Given the description of an element on the screen output the (x, y) to click on. 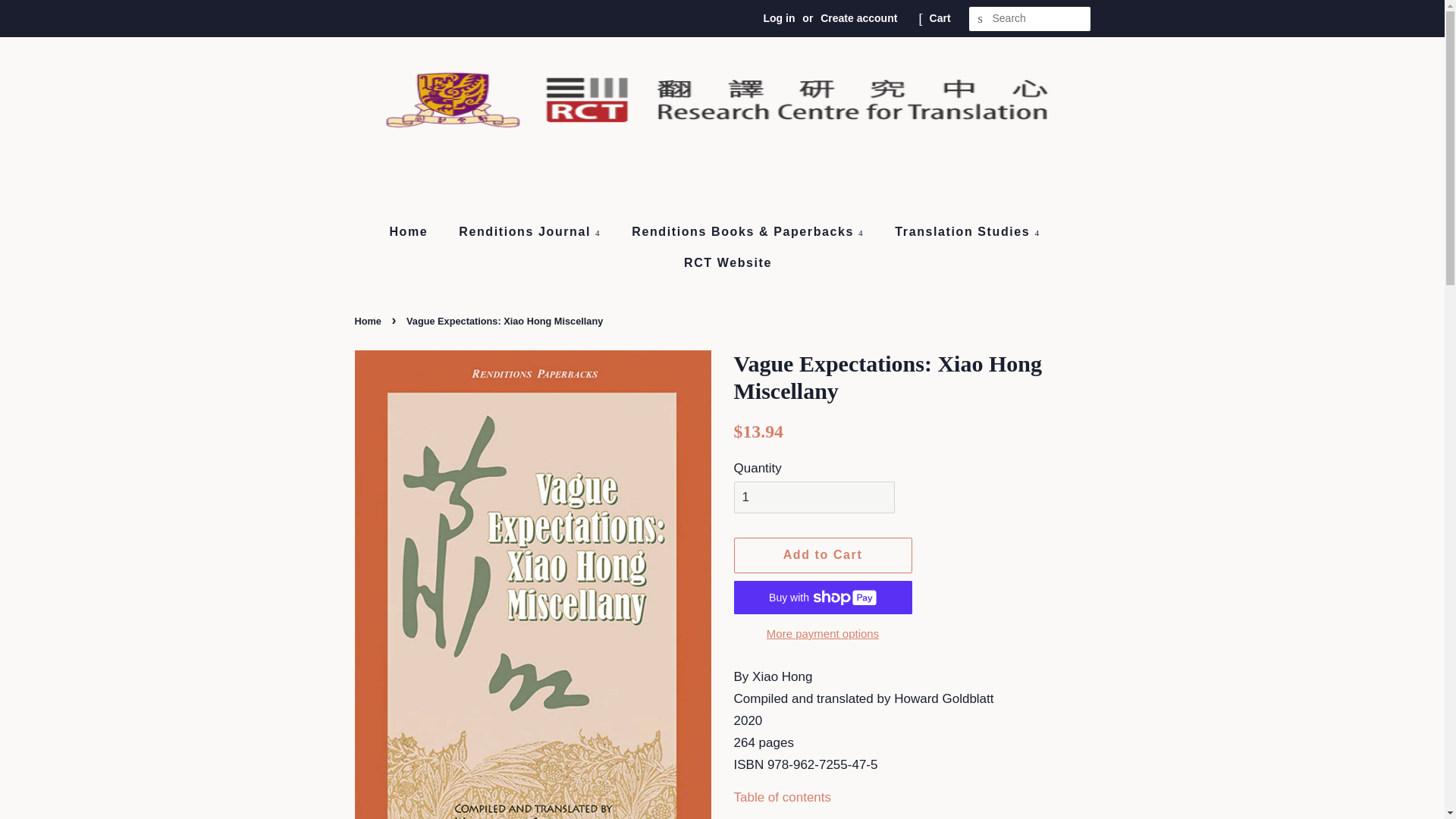
Back to the frontpage (370, 320)
Create account (858, 18)
Search (980, 18)
1 (814, 497)
Renditions Journal (530, 231)
Log in (778, 18)
Cart (940, 18)
Home (415, 231)
